Given the description of an element on the screen output the (x, y) to click on. 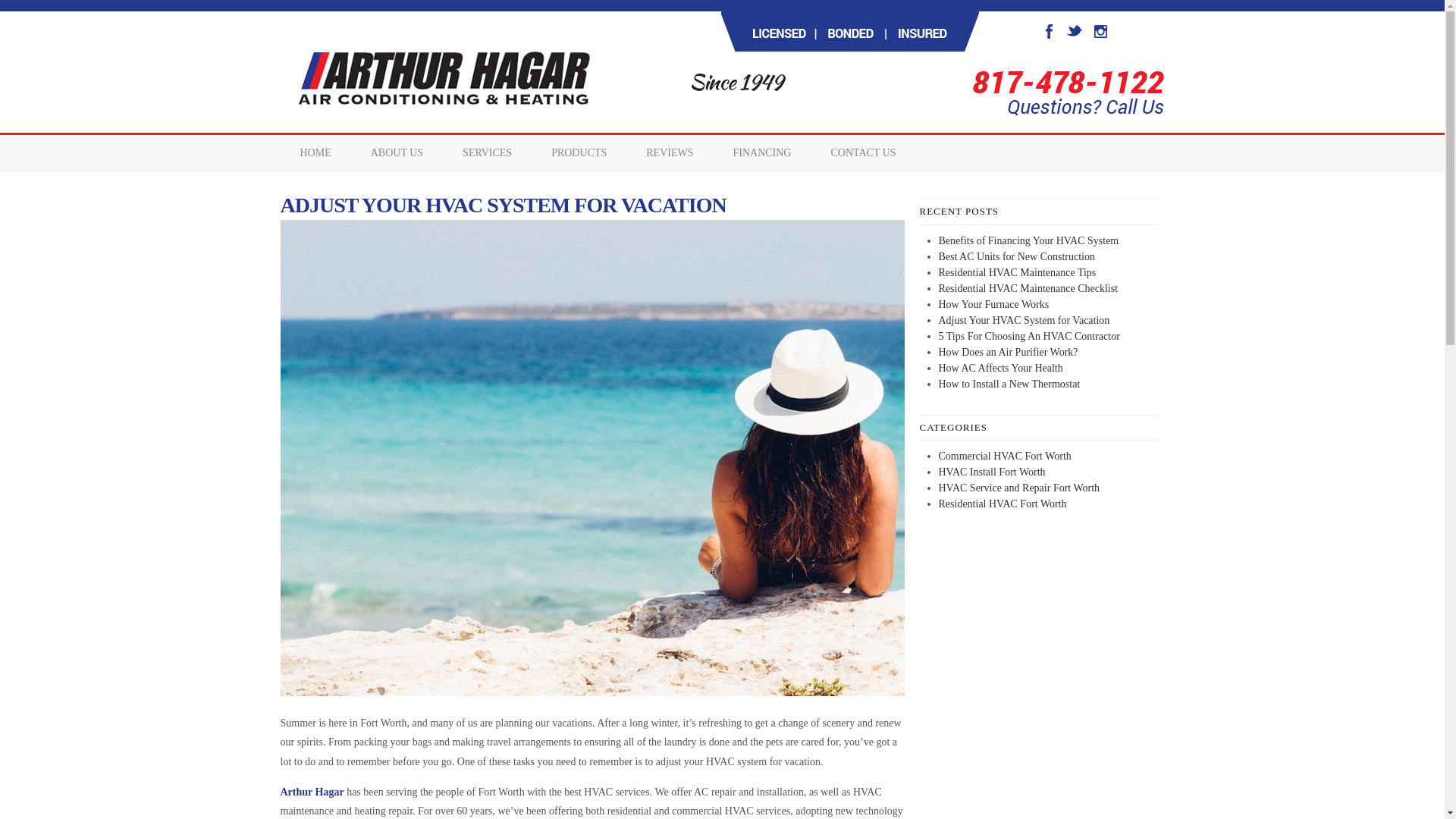
REVIEWS (669, 152)
HOME (315, 152)
ABOUT US (396, 152)
SERVICES (486, 152)
FINANCING (761, 152)
Arthur Hagar (312, 791)
CONTACT US (862, 152)
PRODUCTS (578, 152)
